Given the description of an element on the screen output the (x, y) to click on. 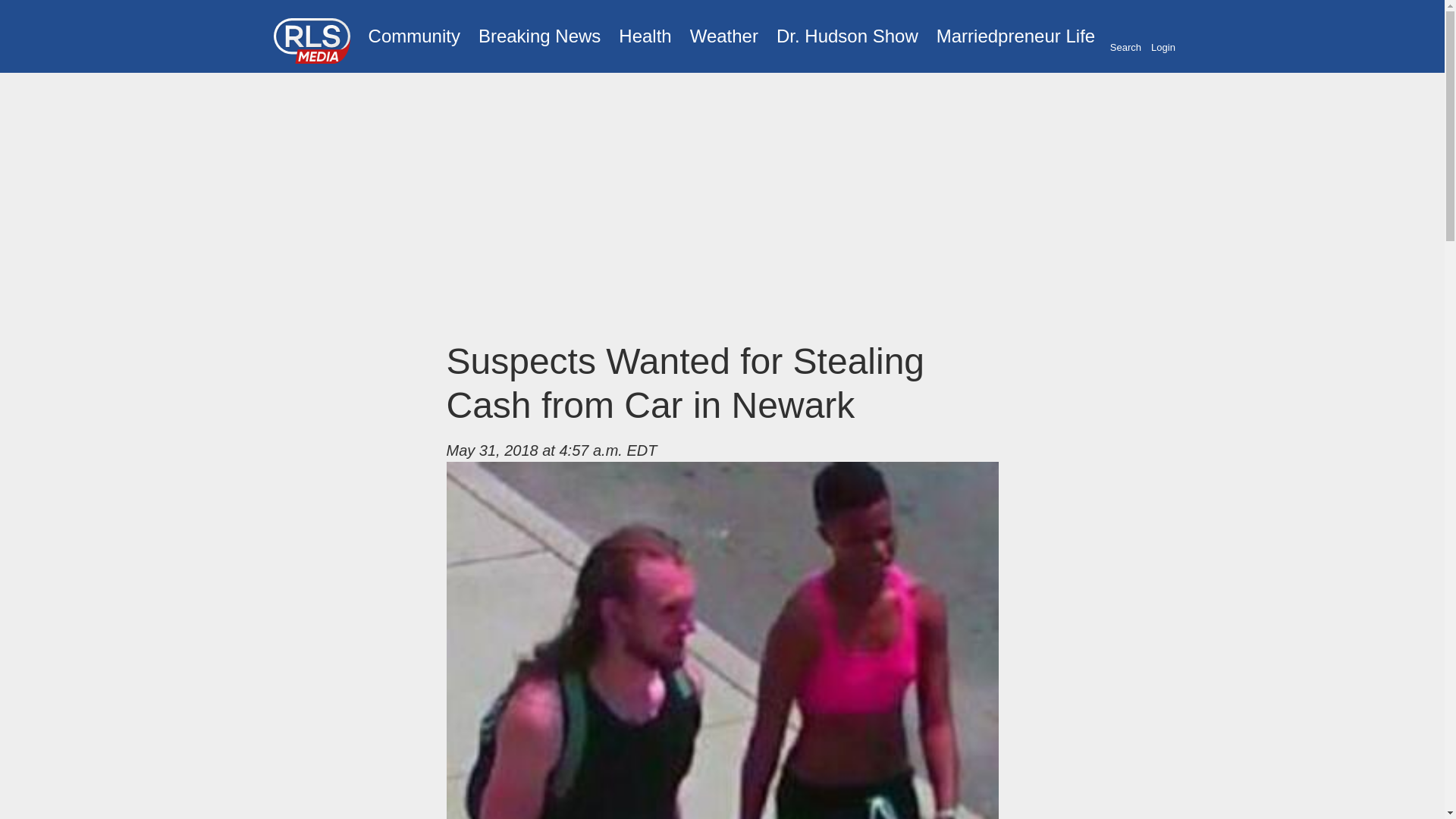
Breaking News (539, 36)
Dr. Hudson Show (847, 36)
Weather (724, 36)
Community (413, 36)
Local Weather (724, 36)
Community News (413, 36)
Marriedpreneur Life (1015, 36)
Flying on Broken Dreams (847, 36)
Health News (644, 36)
